Given the description of an element on the screen output the (x, y) to click on. 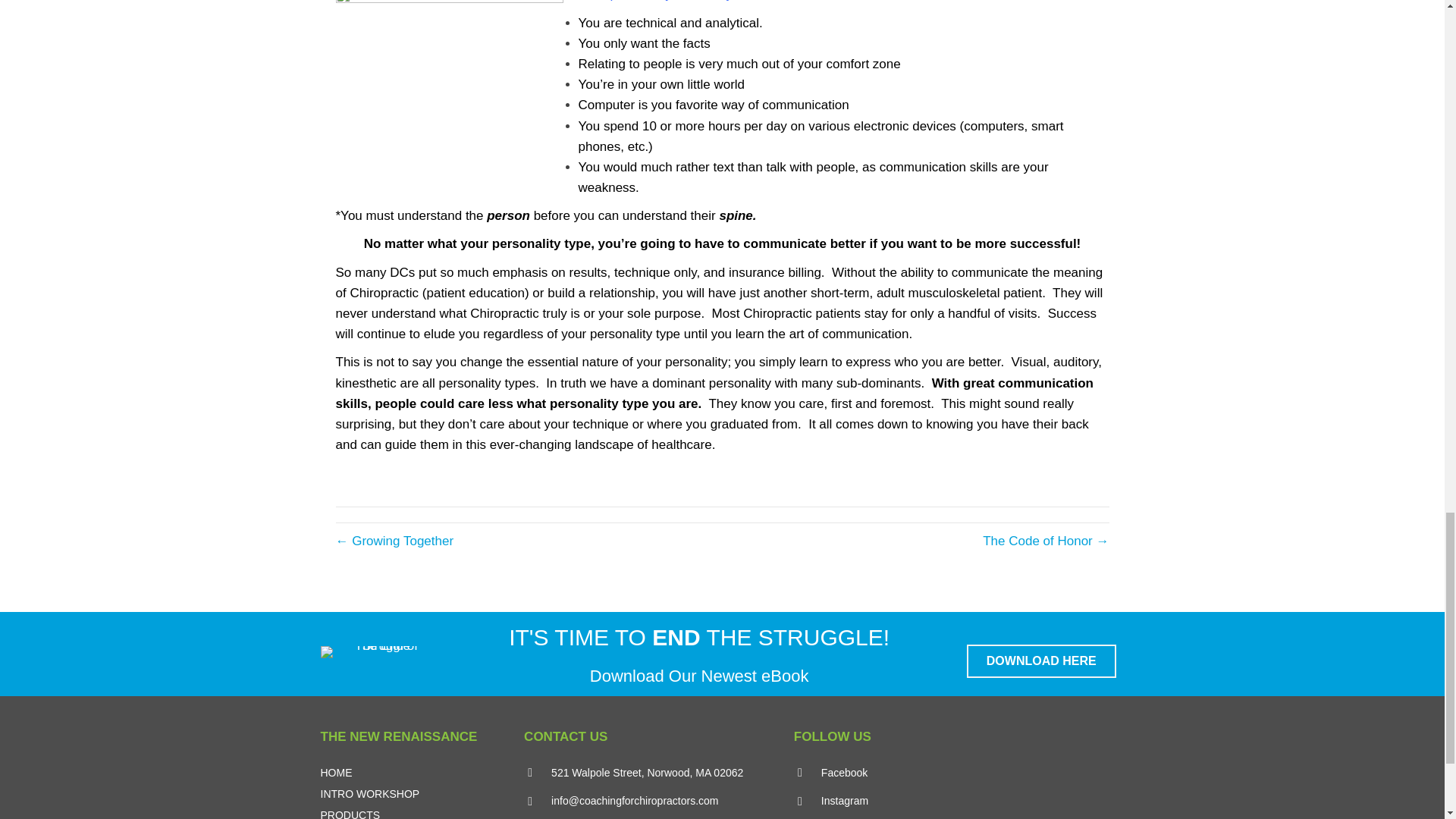
The-End-of-Struggle (379, 652)
dog (448, 83)
